Given the description of an element on the screen output the (x, y) to click on. 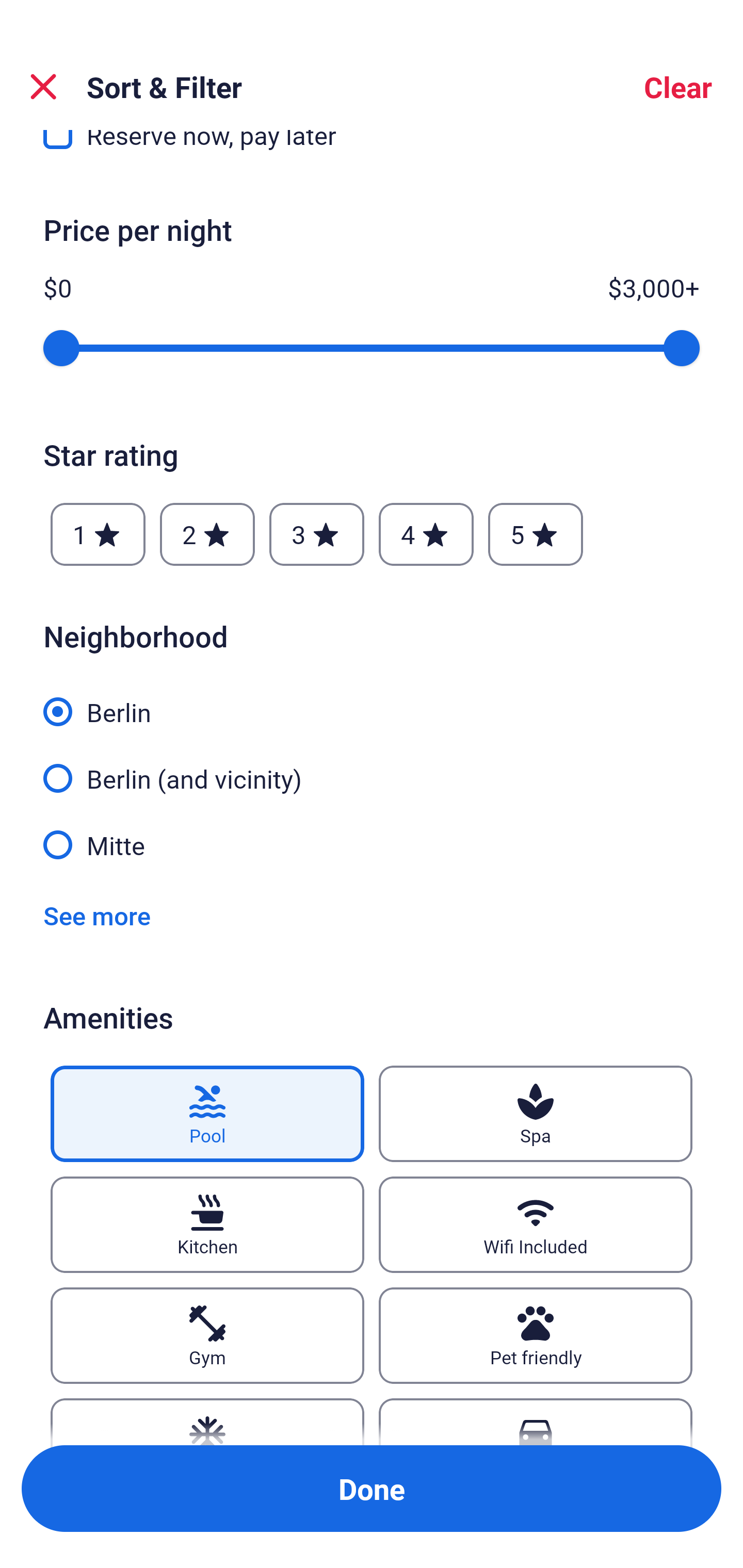
Close Sort and Filter (43, 86)
Clear (677, 86)
1 (97, 533)
2 (206, 533)
3 (316, 533)
4 (426, 533)
5 (535, 533)
Berlin (and vicinity) (371, 767)
Mitte (371, 844)
See more See more neighborhoods Link (96, 915)
Pool (207, 1113)
Spa (535, 1113)
Kitchen (207, 1224)
Wifi Included (535, 1224)
Gym (207, 1335)
Pet friendly (535, 1335)
Apply and close Sort and Filter Done (371, 1488)
